Given the description of an element on the screen output the (x, y) to click on. 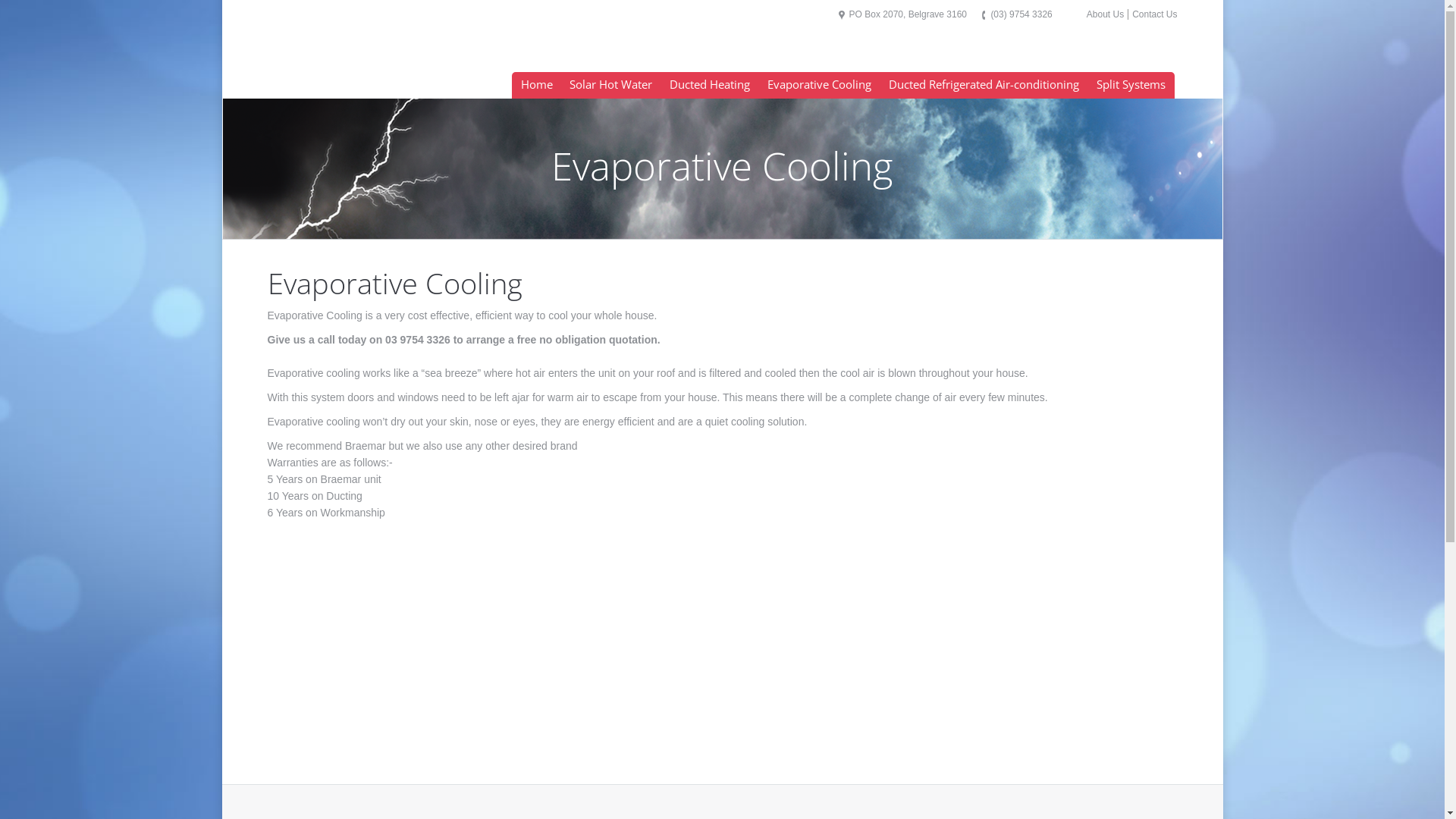
Ducted Refrigerated Air-conditioning Element type: text (984, 85)
Contact Us Element type: text (1154, 14)
Ducted Heating Element type: text (710, 85)
Solar Hot Water Element type: text (611, 85)
About Us Element type: text (1104, 14)
Split Systems Element type: text (1130, 85)
Home Element type: text (536, 85)
Evaporative Cooling Element type: text (819, 85)
